Given the description of an element on the screen output the (x, y) to click on. 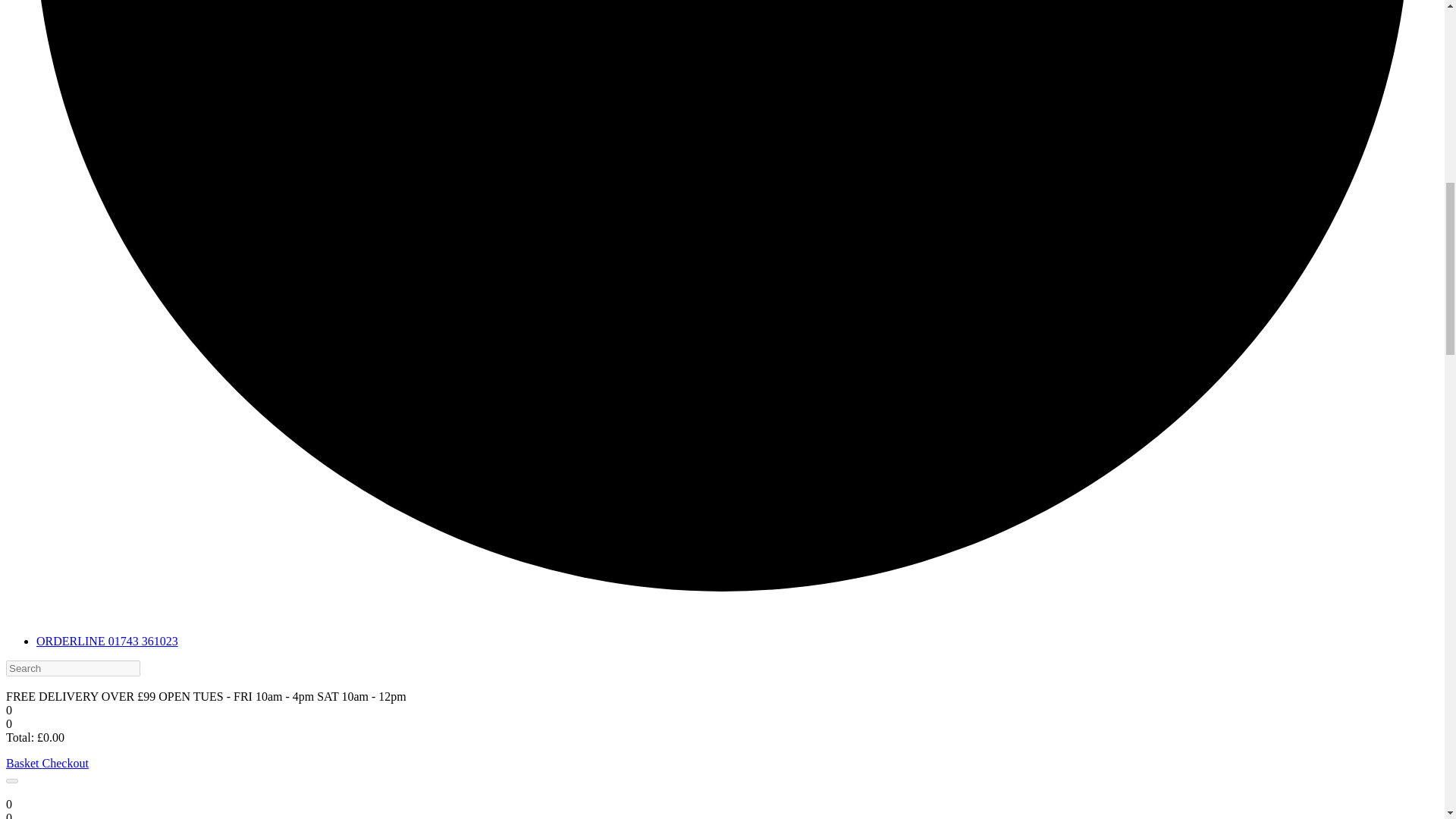
ORDERLINE 01743 361023 (106, 640)
Checkout (65, 762)
Basket (23, 762)
